Given the description of an element on the screen output the (x, y) to click on. 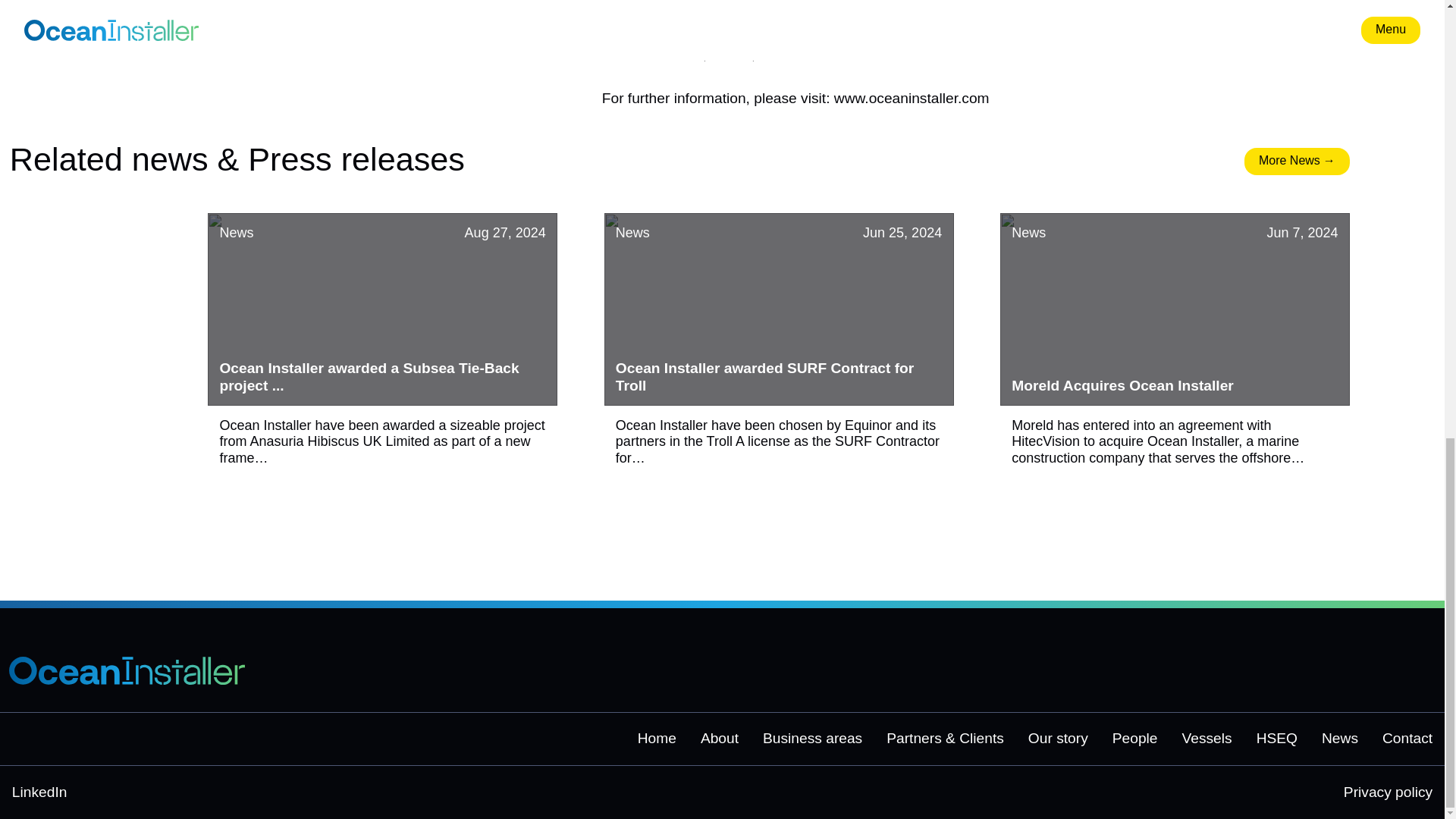
Our story (1057, 738)
HSEQ (1276, 738)
Vessels (1205, 738)
Contact (1406, 738)
Privacy policy (1387, 791)
About (719, 738)
Home (657, 738)
More News (1296, 162)
Business areas (811, 738)
LinkedIn (38, 791)
